Given the description of an element on the screen output the (x, y) to click on. 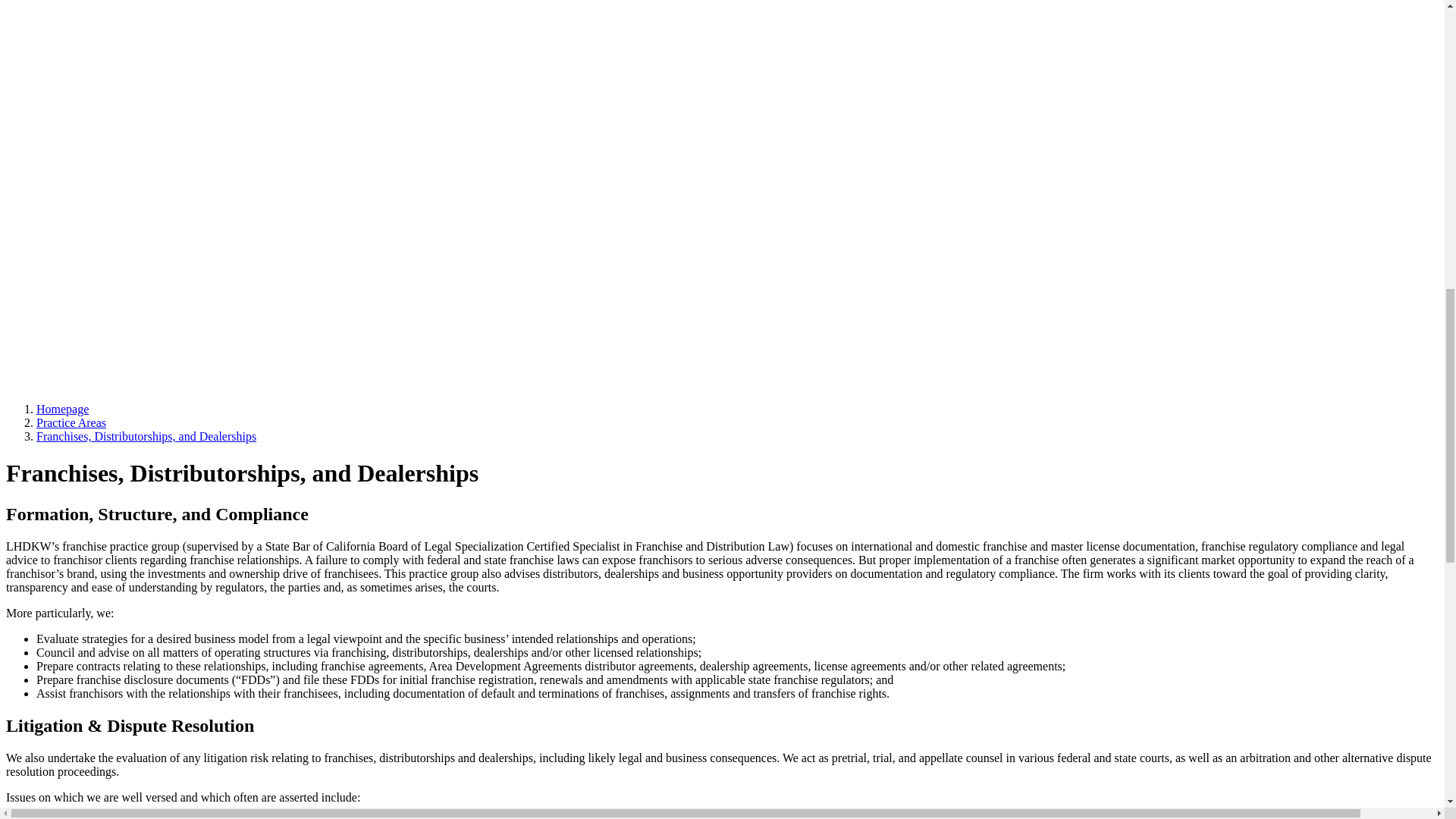
Franchises, Distributorships, and Dealerships (146, 436)
Homepage (62, 408)
Practice Areas (71, 422)
